Given the description of an element on the screen output the (x, y) to click on. 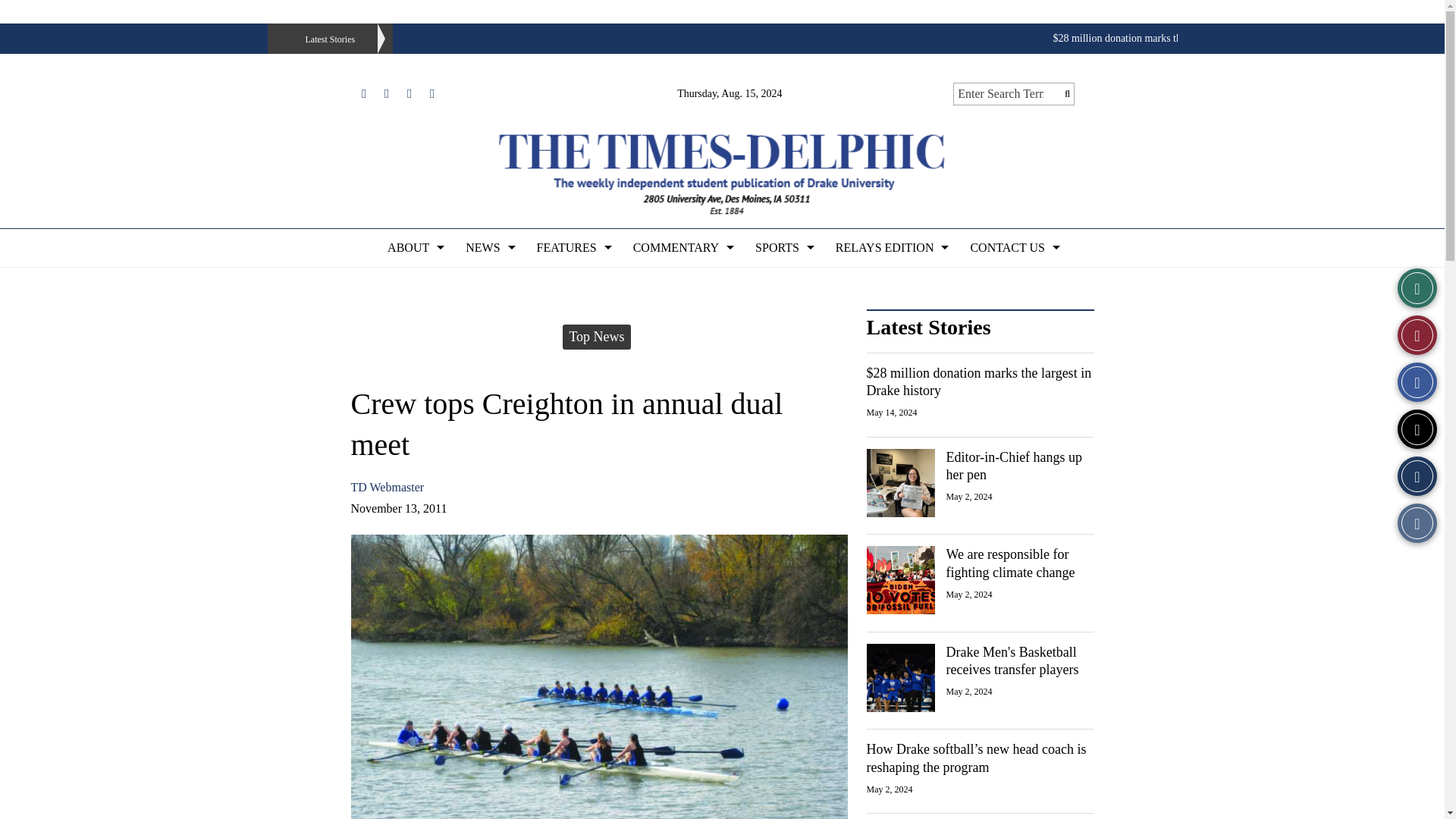
FEATURES (572, 247)
NEWS (488, 247)
COMMENTARY (681, 247)
ABOUT (413, 247)
SPORTS (783, 247)
